Given the description of an element on the screen output the (x, y) to click on. 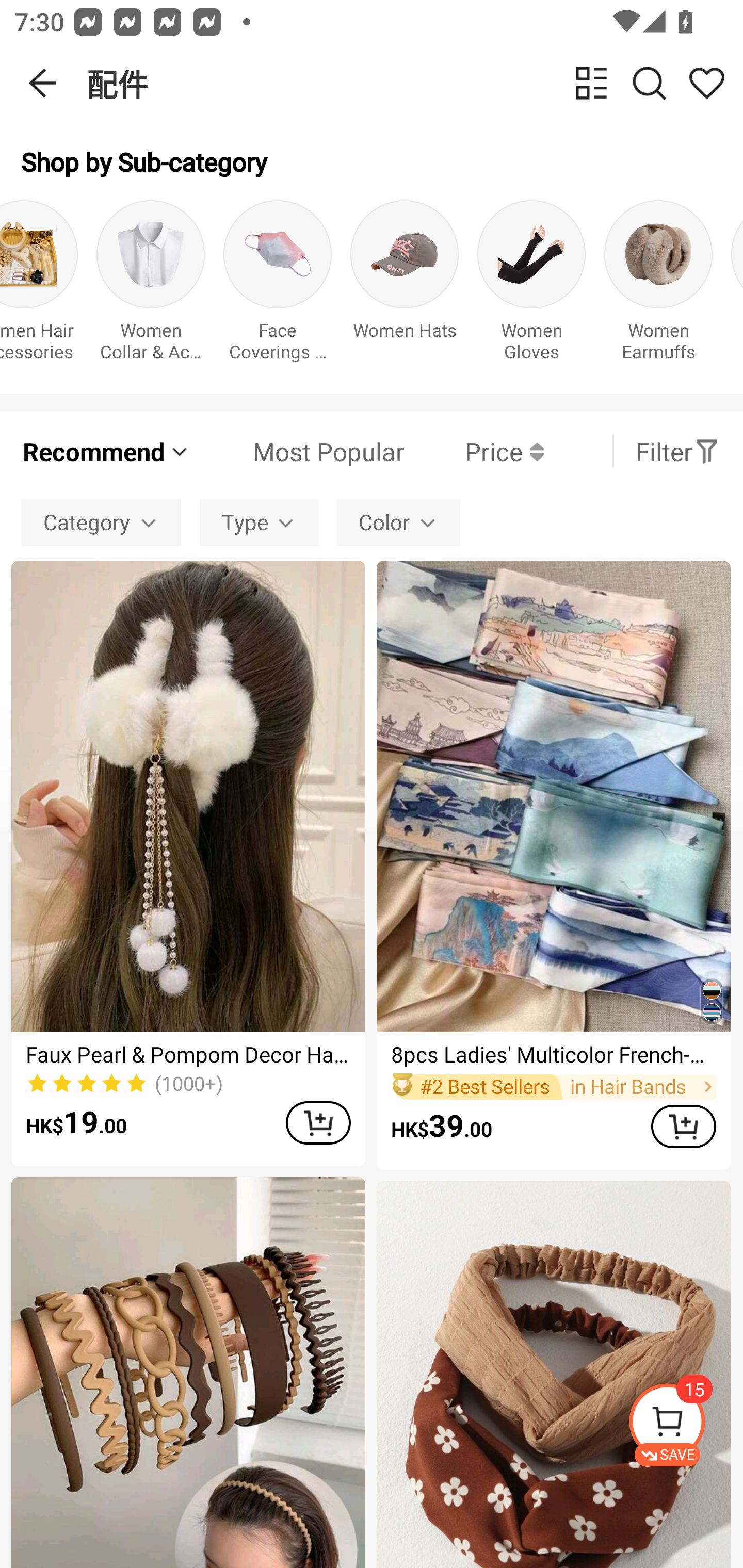
配件 change view Search Share (414, 82)
change view (591, 82)
Search (648, 82)
Share (706, 82)
Women Hair Accessories (39, 285)
Women Collar & Accessories (150, 285)
Face Coverings & Accs (277, 285)
Women Hats (404, 285)
Women Gloves (531, 285)
Women Earmuffs (658, 285)
Recommend (106, 450)
Most Popular (297, 450)
Price (474, 450)
Filter (677, 450)
Category (101, 521)
Type (258, 521)
Color (397, 521)
#2 Best Sellers in Hair Bands (553, 1086)
ADD TO CART (318, 1122)
ADD TO CART (683, 1126)
9pcs/set Women's Brown Frosted Plastic Hairbands (188, 1372)
2pcs Flower Print Hair Band (553, 1374)
SAVE (685, 1424)
